Given the description of an element on the screen output the (x, y) to click on. 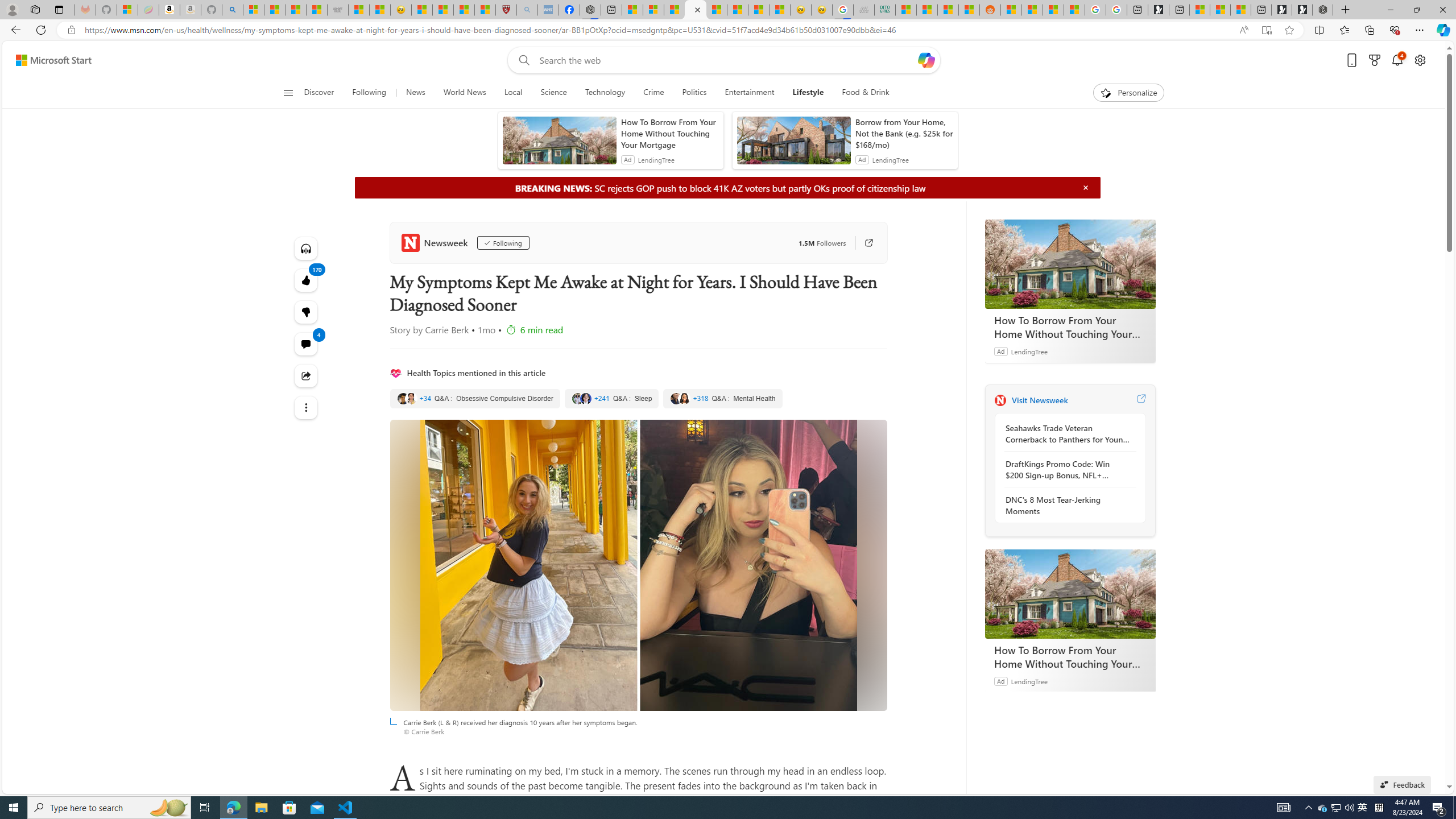
Class: quote-thumbnail (684, 398)
